Given the description of an element on the screen output the (x, y) to click on. 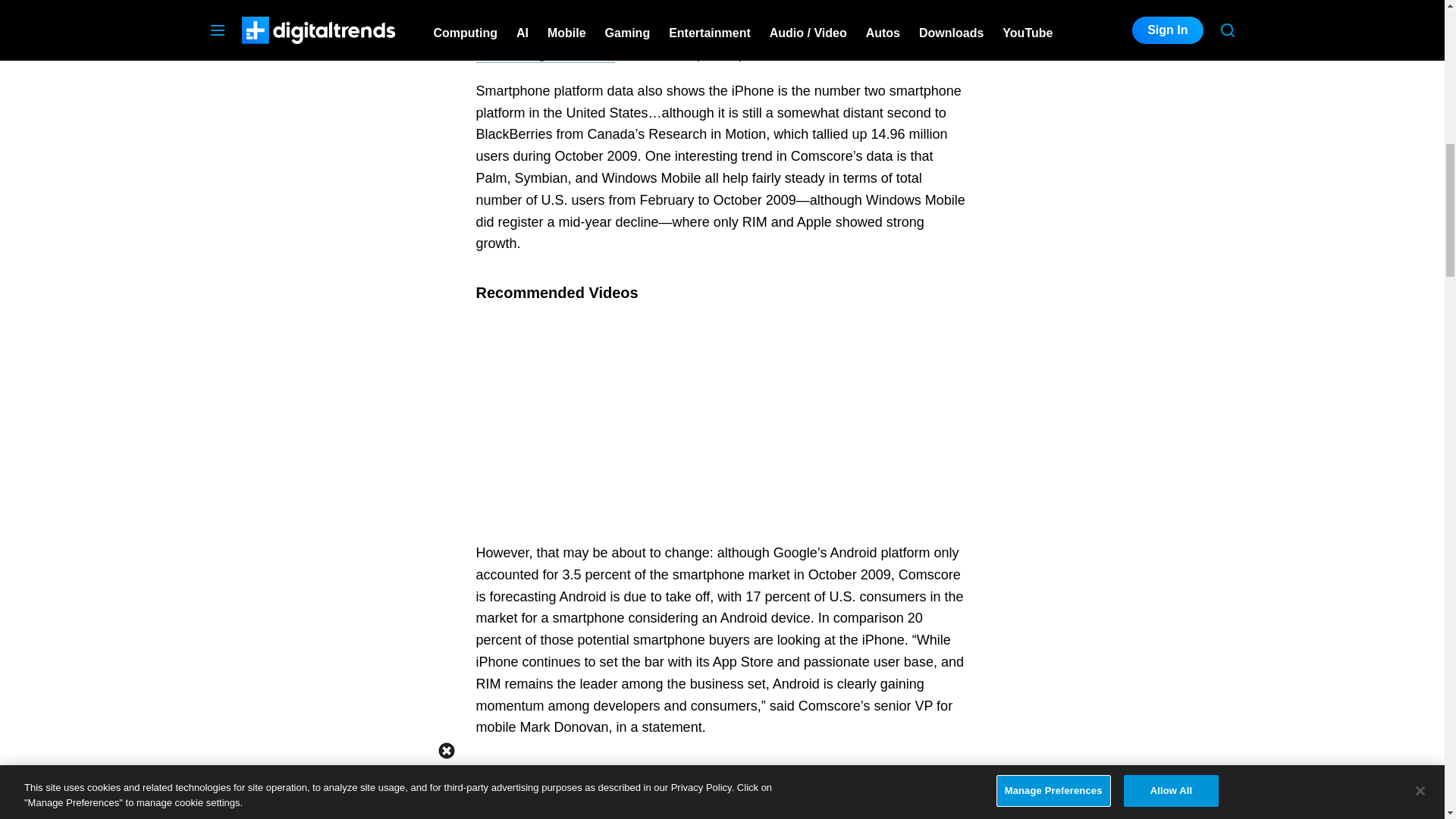
3rd party ad content (1120, 41)
